Given the description of an element on the screen output the (x, y) to click on. 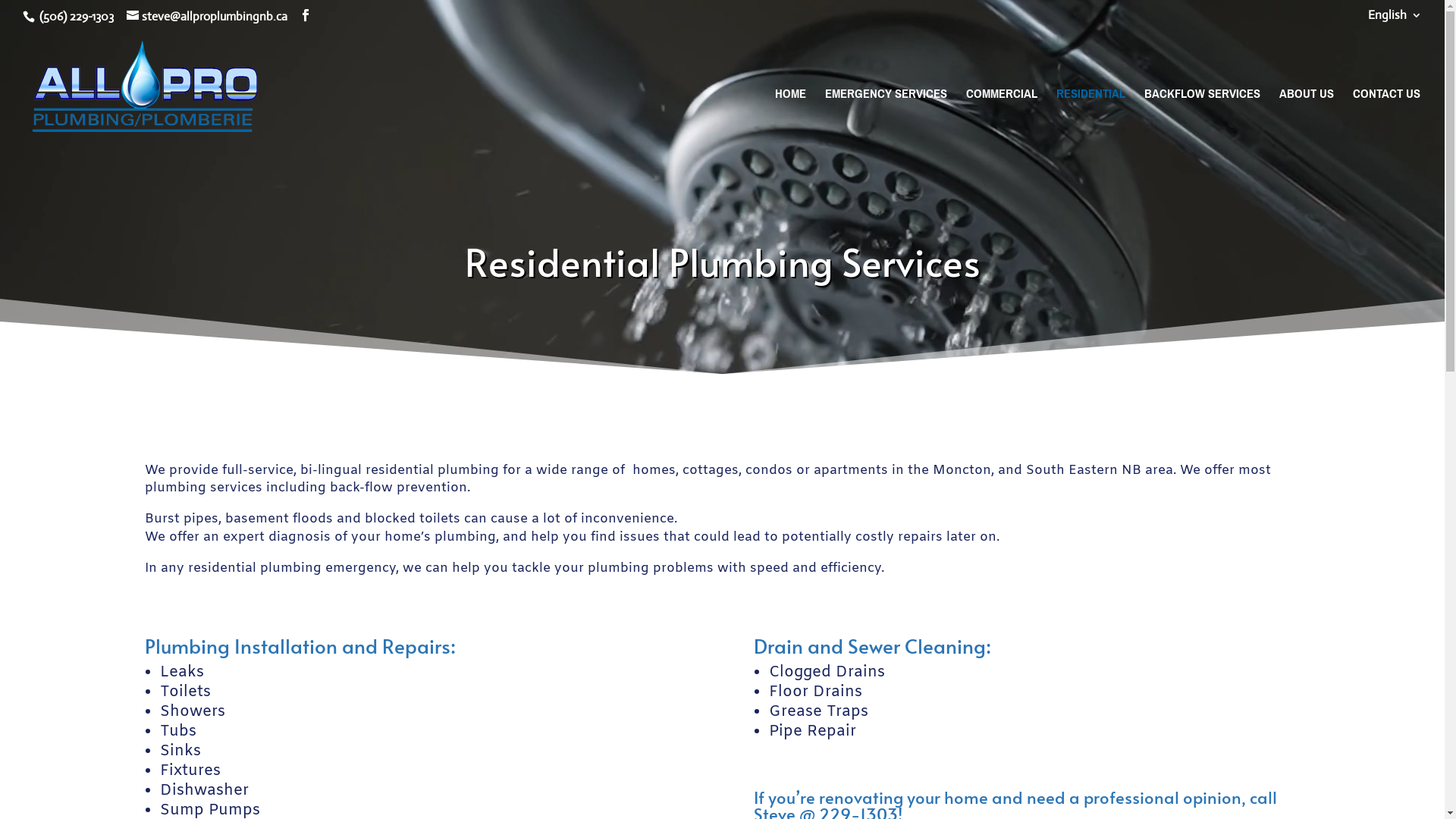
ABOUT US Element type: text (1306, 122)
COMMERCIAL Element type: text (1001, 122)
EMERGENCY SERVICES Element type: text (886, 122)
BACKFLOW SERVICES Element type: text (1202, 122)
HOME Element type: text (790, 122)
CONTACT US Element type: text (1386, 122)
English Element type: text (1394, 19)
steve@allproplumbingnb.ca Element type: text (206, 16)
RESIDENTIAL Element type: text (1090, 122)
